Given the description of an element on the screen output the (x, y) to click on. 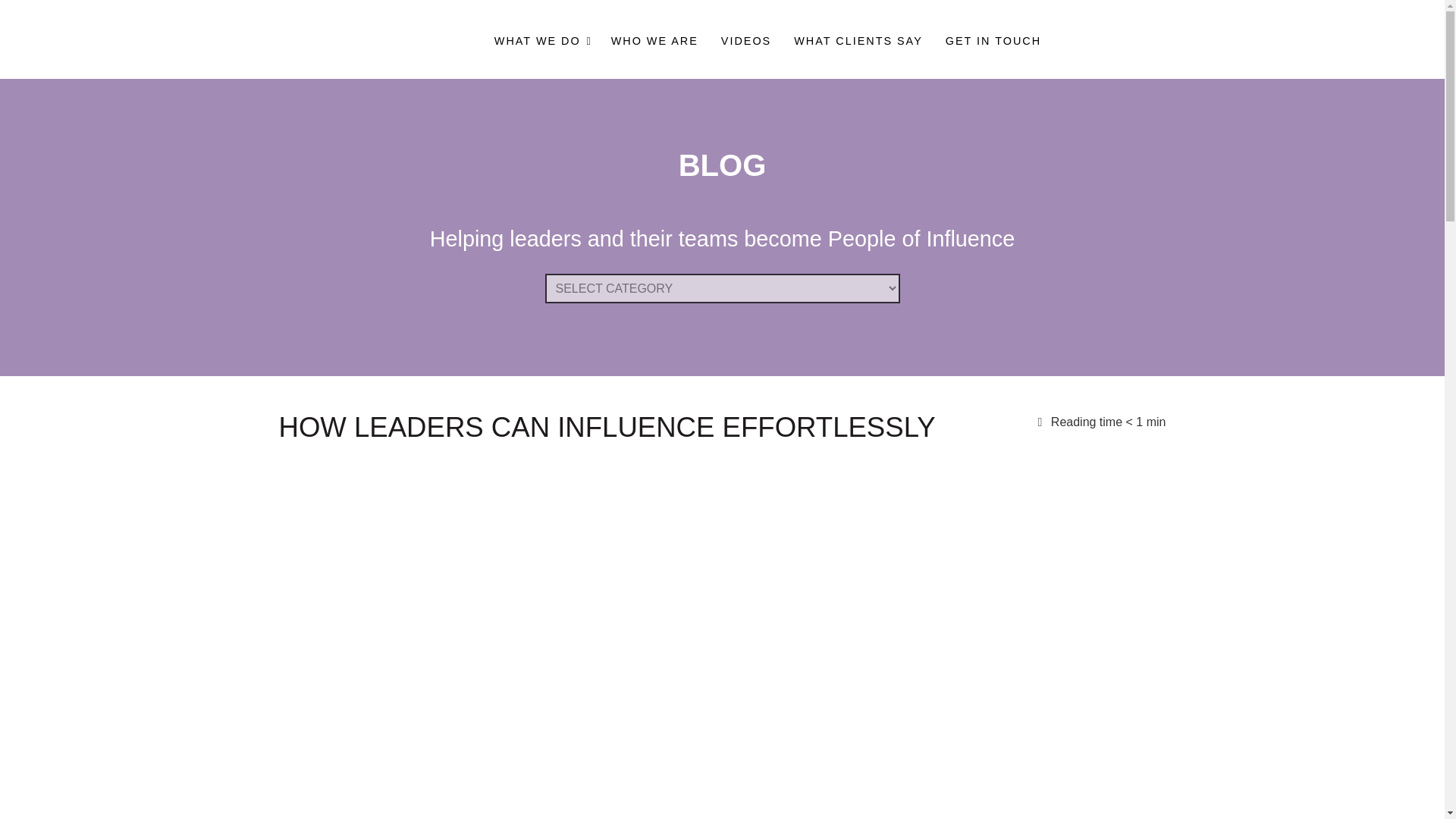
WHAT CLIENTS SAY (767, 40)
People of Influence (858, 40)
WHO WE ARE (260, 39)
HOW LEADERS CAN INFLUENCE EFFORTLESSLY (654, 40)
GET IN TOUCH (746, 40)
